Given the description of an element on the screen output the (x, y) to click on. 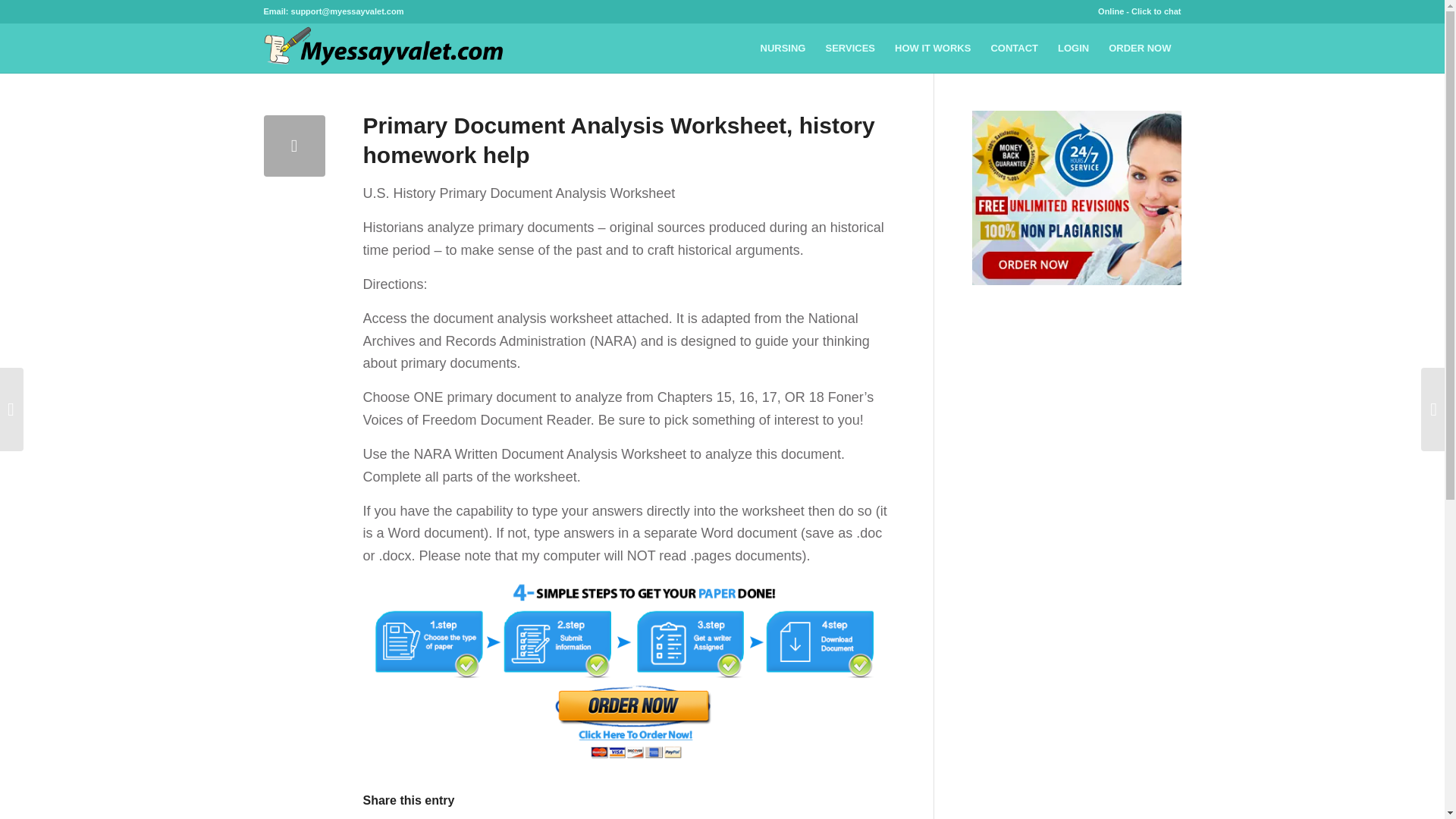
Online - Click to chat (1138, 10)
NURSING (783, 47)
CONTACT (1013, 47)
SERVICES (850, 47)
HOW IT WORKS (932, 47)
logoMEV (387, 47)
LOGIN (1073, 47)
Primary Document Analysis Worksheet, history homework help (293, 145)
ORDER NOW (1139, 47)
